Given the description of an element on the screen output the (x, y) to click on. 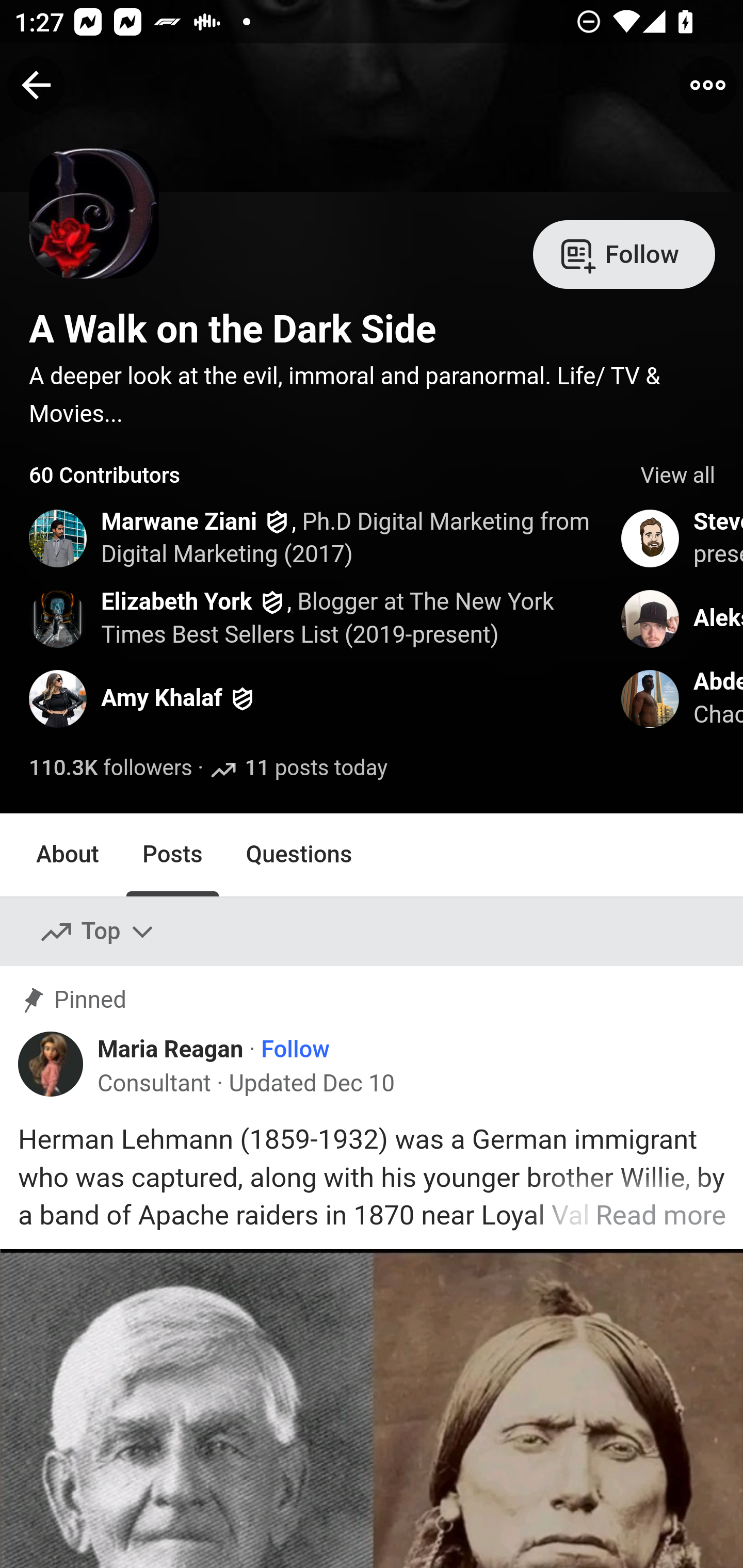
Icon for A Walk on the Dark Side (94, 239)
Follow (623, 252)
A Walk on the Dark Side (232, 329)
View all (677, 475)
Marwane Ziani (179, 521)
Profile photo for Marwane Ziani (58, 538)
Profile photo for Steve Dani (650, 538)
Elizabeth York (176, 601)
Profile photo for Elizabeth York (58, 617)
Profile photo for Aleks Storlid (650, 617)
Profile photo for Amy Khalaf (58, 699)
Profile photo for Abdel Fudadin (650, 699)
Amy Khalaf (162, 699)
110.3K followers (110, 768)
About (68, 854)
Posts (171, 854)
Questions (299, 854)
Top (97, 931)
Profile photo for Maria Reagan (50, 1063)
Maria Reagan (170, 1049)
Follow (294, 1051)
Updated Dec 10 Updated  Dec 10 (311, 1083)
